Given the description of an element on the screen output the (x, y) to click on. 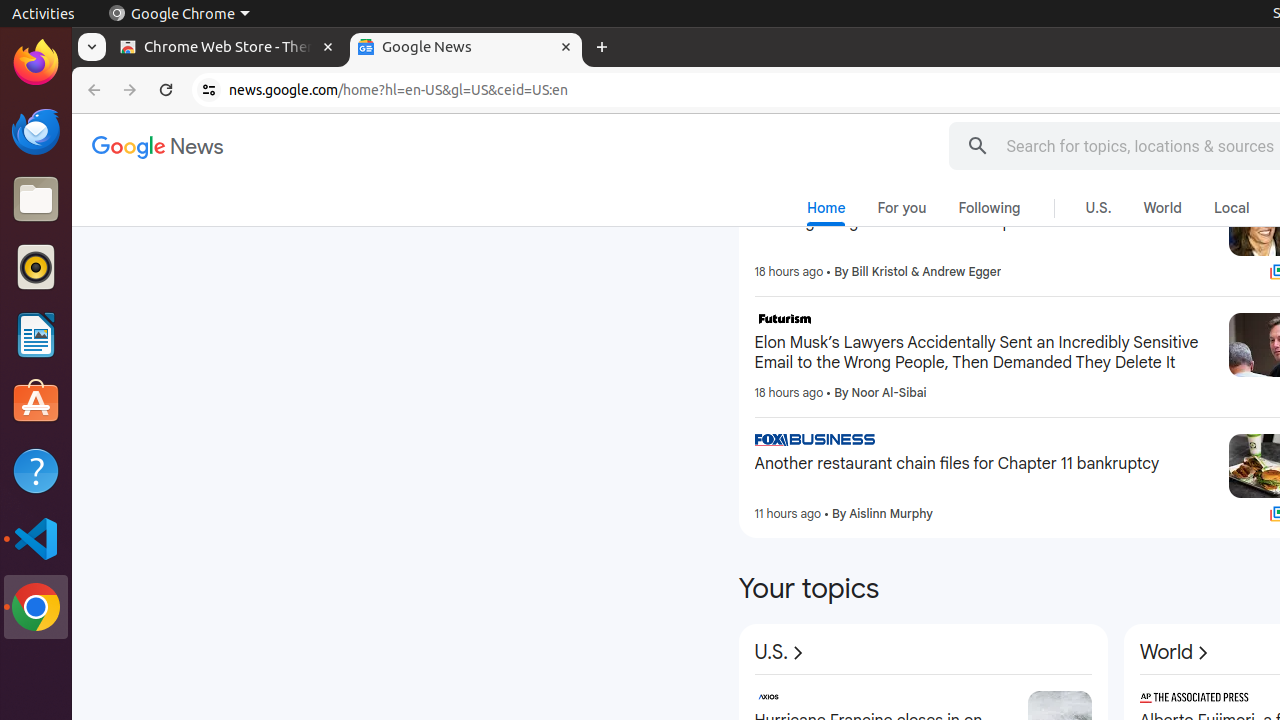
Ubuntu Software Element type: push-button (36, 402)
More - Another restaurant chain files for Chapter 11 bankruptcy Element type: push-button (1206, 443)
Firefox Web Browser Element type: push-button (36, 63)
LibreOffice Writer Element type: push-button (36, 334)
Google Chrome Element type: menu (179, 13)
